Given the description of an element on the screen output the (x, y) to click on. 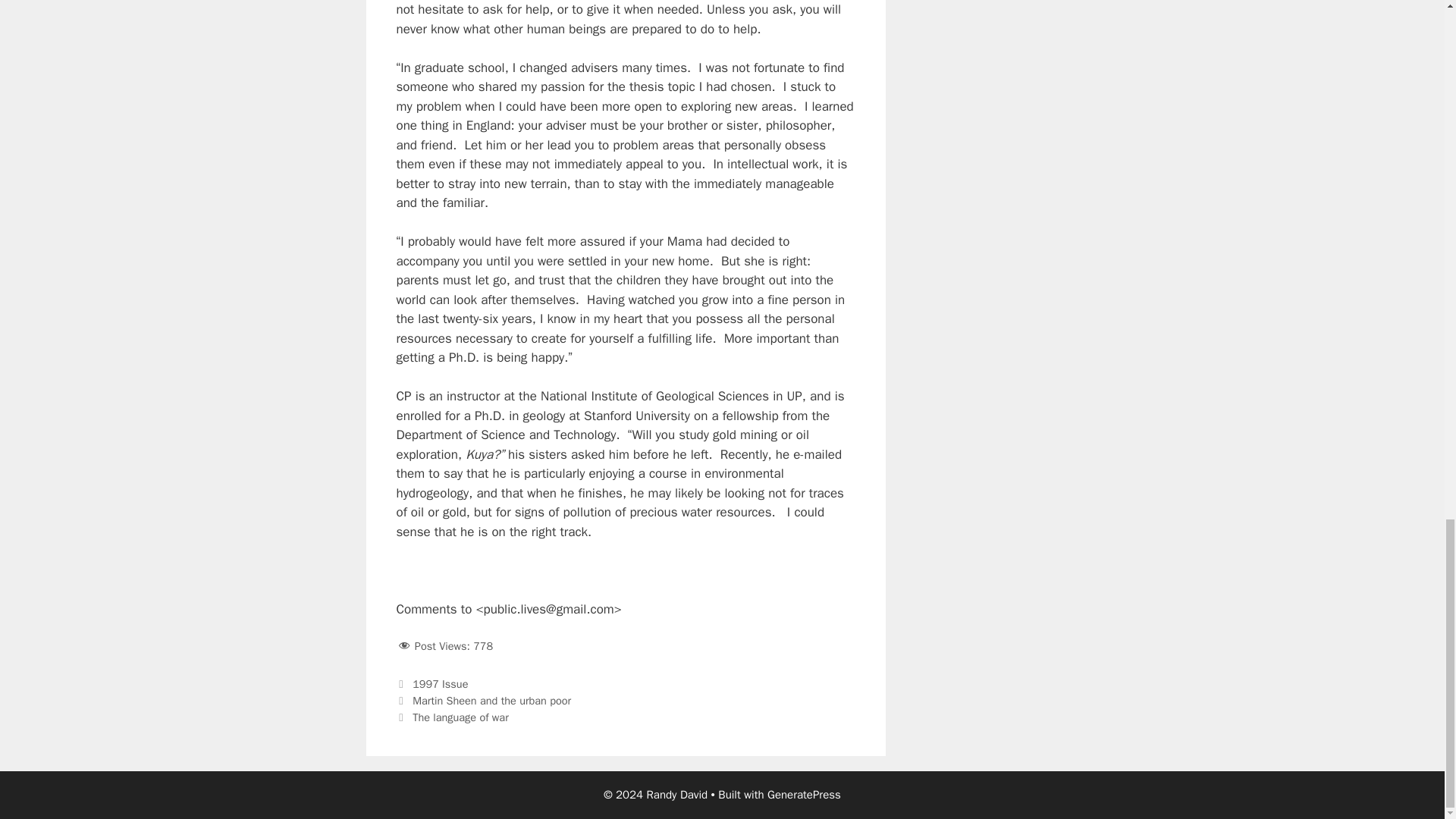
Martin Sheen and the urban poor (491, 700)
Scroll back to top (1406, 94)
1997 Issue (439, 684)
